Given the description of an element on the screen output the (x, y) to click on. 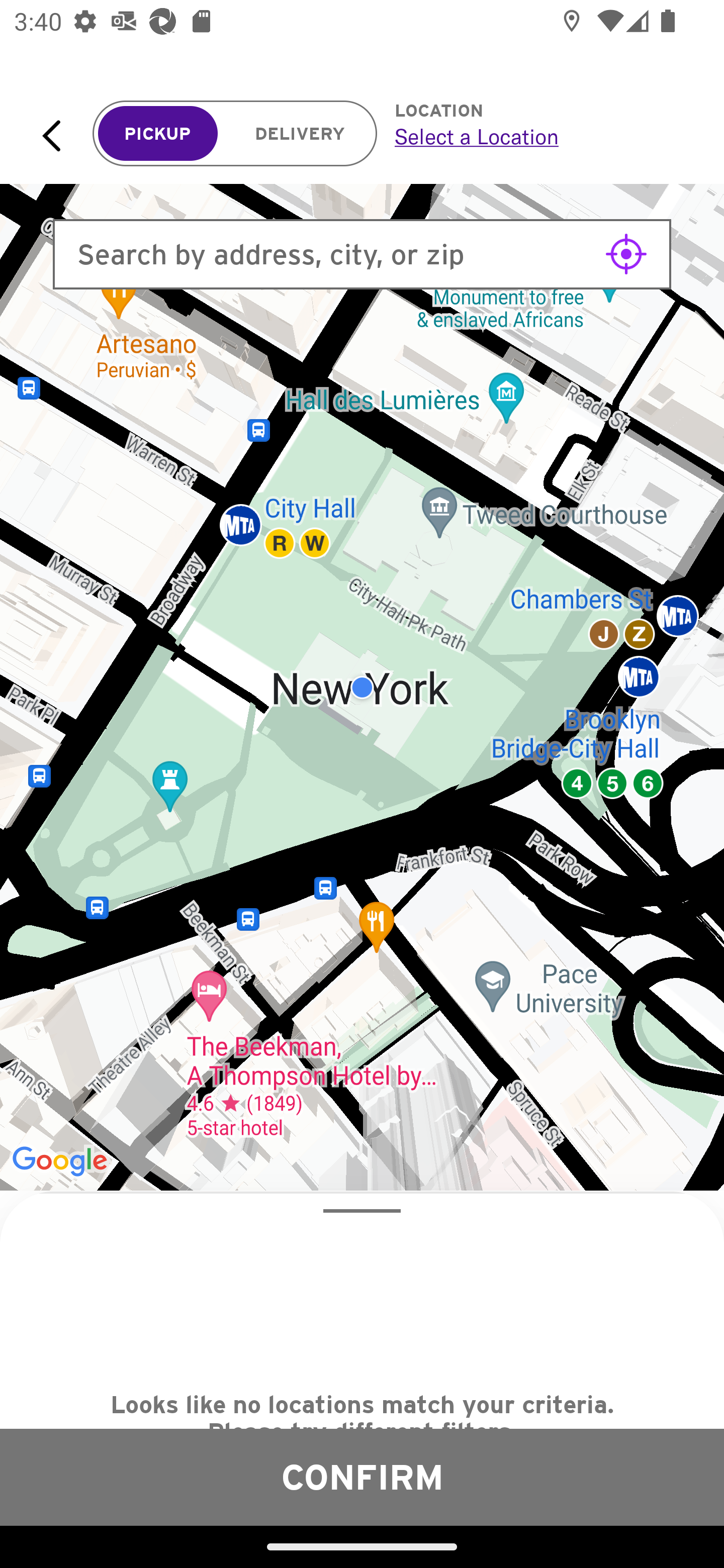
PICKUP (157, 133)
DELIVERY (299, 133)
Select a Location (536, 136)
Search by address, city, or zip (361, 254)
CONFIRM (362, 1476)
